Given the description of an element on the screen output the (x, y) to click on. 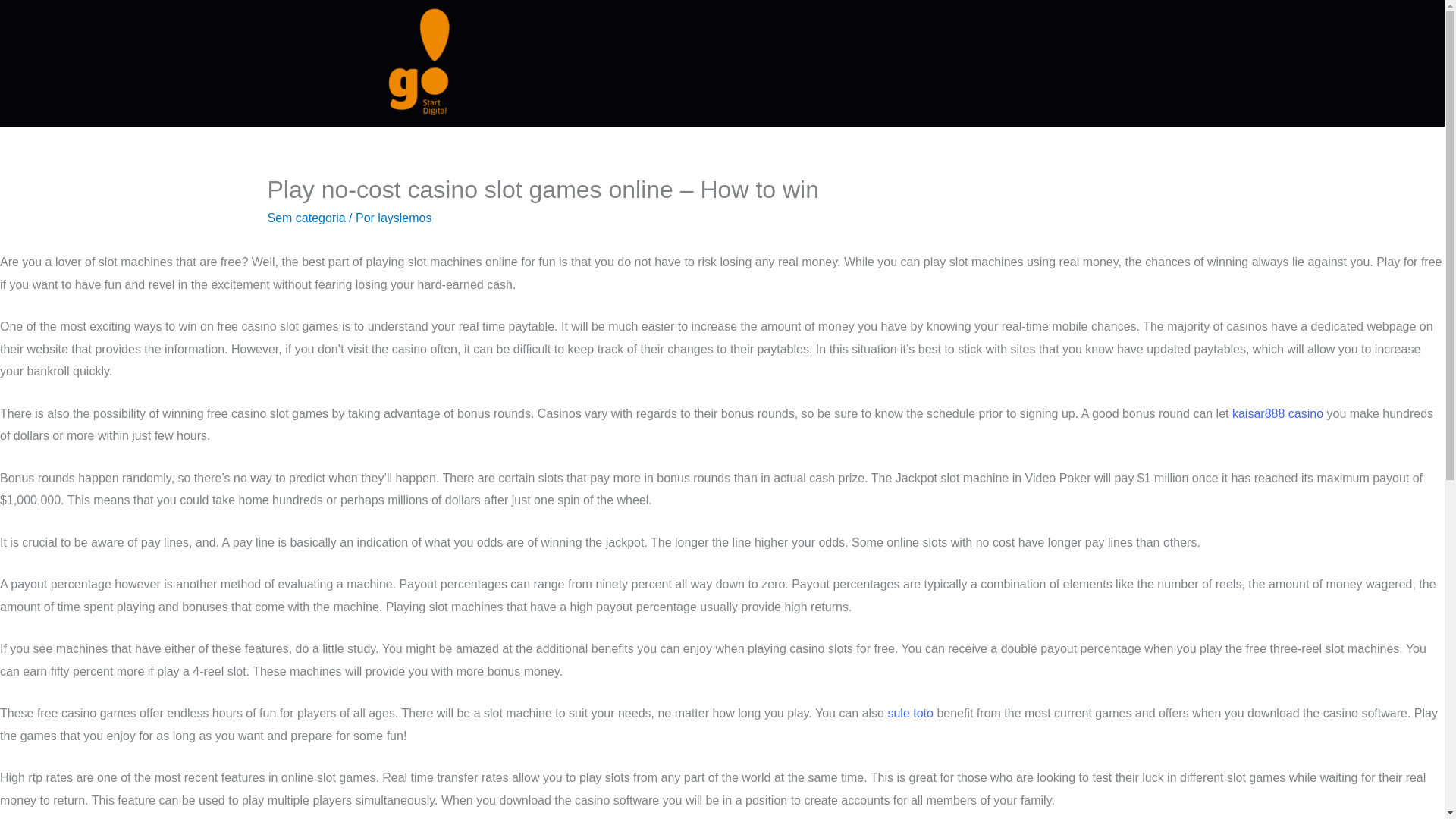
Sem categoria (305, 217)
layslemos (403, 217)
sule toto (909, 712)
Ver todos os posts de layslemos (403, 217)
kaisar888 casino (1277, 413)
